Given the description of an element on the screen output the (x, y) to click on. 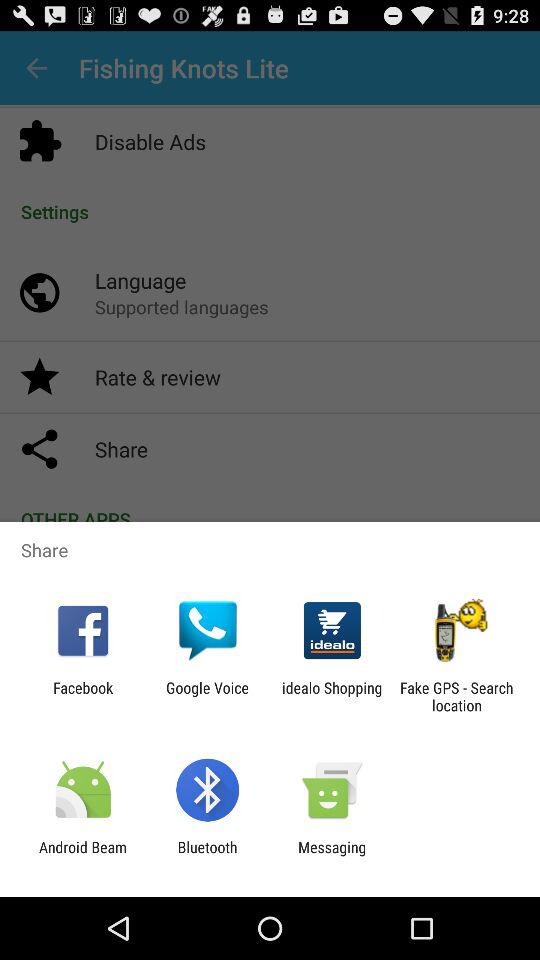
tap icon to the left of messaging app (207, 856)
